Given the description of an element on the screen output the (x, y) to click on. 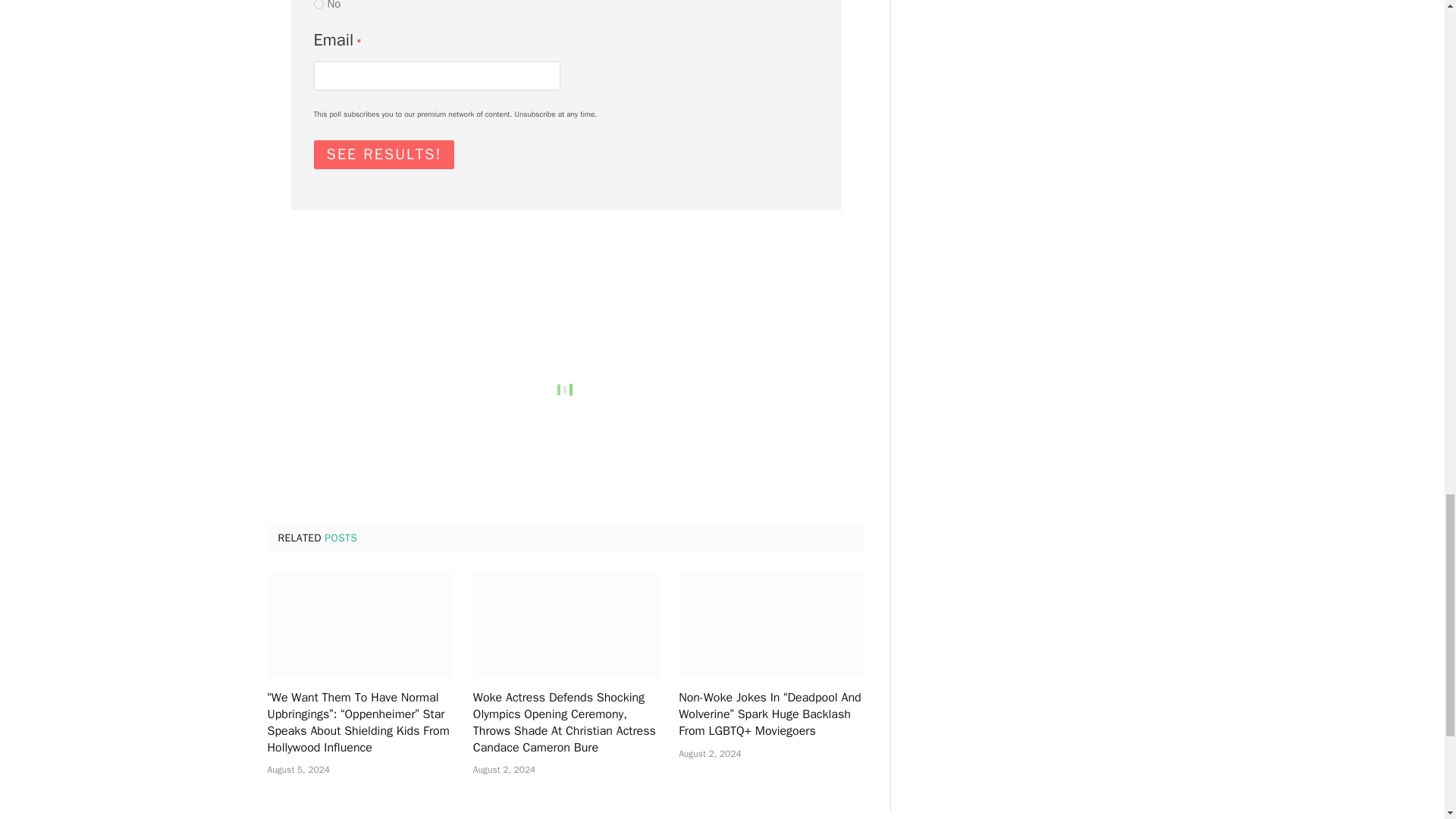
gpoll1b2a53ce5 (318, 4)
See Results! (384, 154)
See Results! (384, 154)
